Given the description of an element on the screen output the (x, y) to click on. 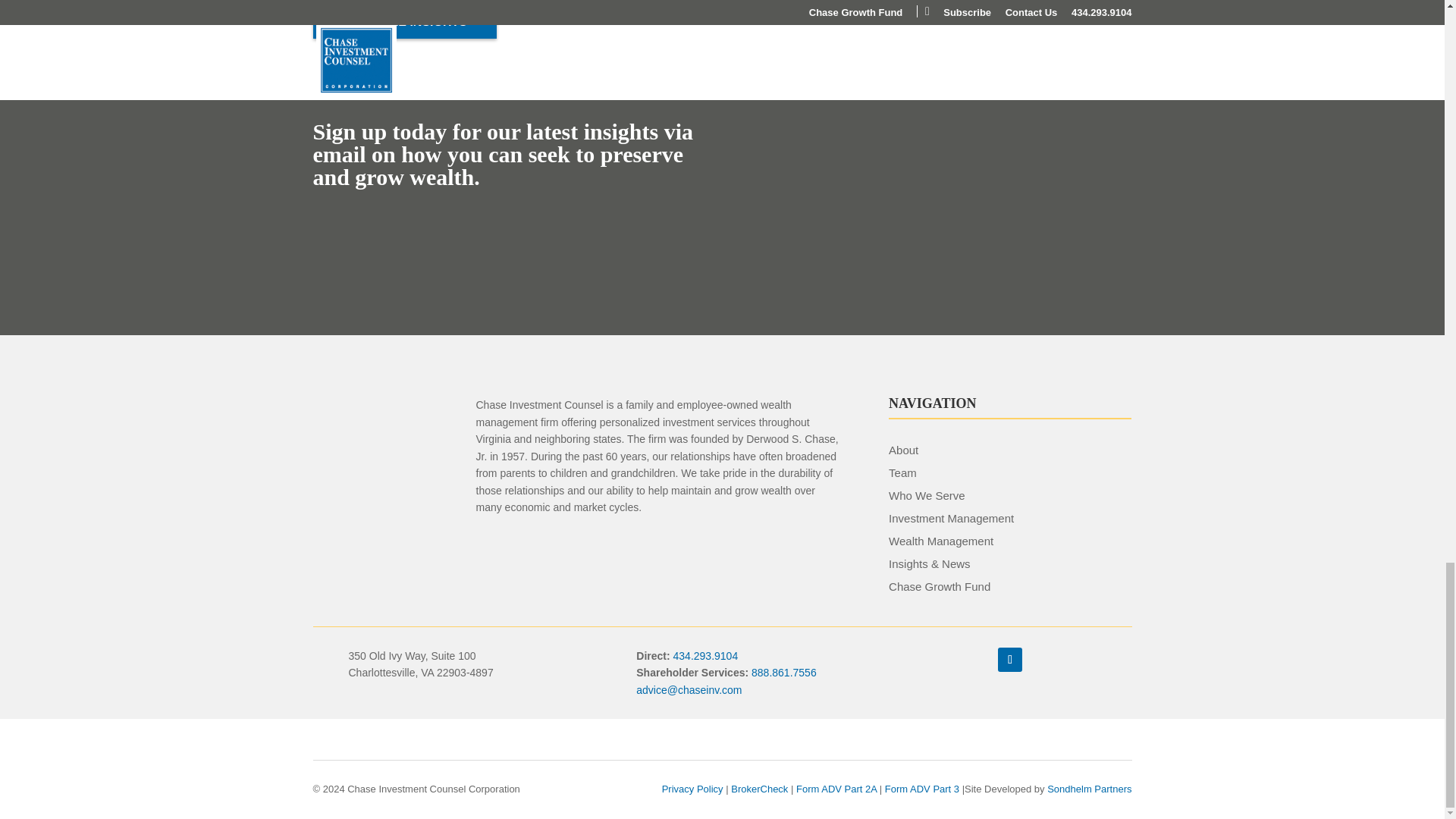
Wealth Management (940, 540)
Follow on LinkedIn (1009, 659)
Team (902, 472)
Chase Growth Fund (939, 585)
SEE MORE INSIGHTS (404, 21)
About (903, 449)
Who We Serve (926, 495)
Form 0 (937, 217)
Investment Management (950, 517)
